Given the description of an element on the screen output the (x, y) to click on. 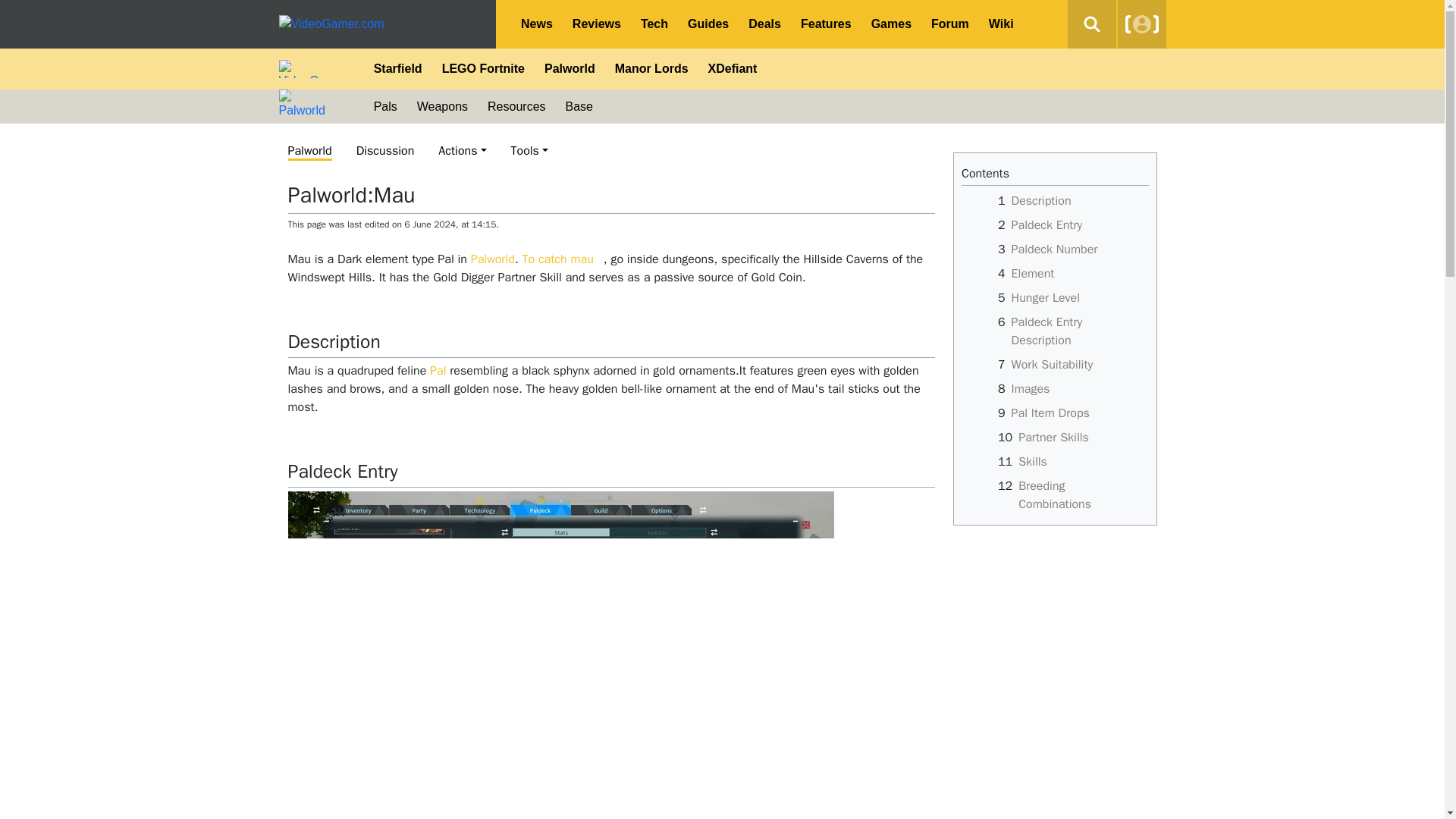
Starfield (398, 68)
Mau entry in Paldeck (561, 644)
Games (891, 24)
To catch mau (561, 258)
Guides (708, 24)
Pals (385, 106)
Palworld:Pals (437, 370)
Tech (654, 24)
LEGO Fortnite (483, 68)
Base (579, 106)
Palworld:Main Page (492, 258)
Forum (949, 24)
Discussion (385, 150)
Features (825, 24)
News (536, 24)
